Given the description of an element on the screen output the (x, y) to click on. 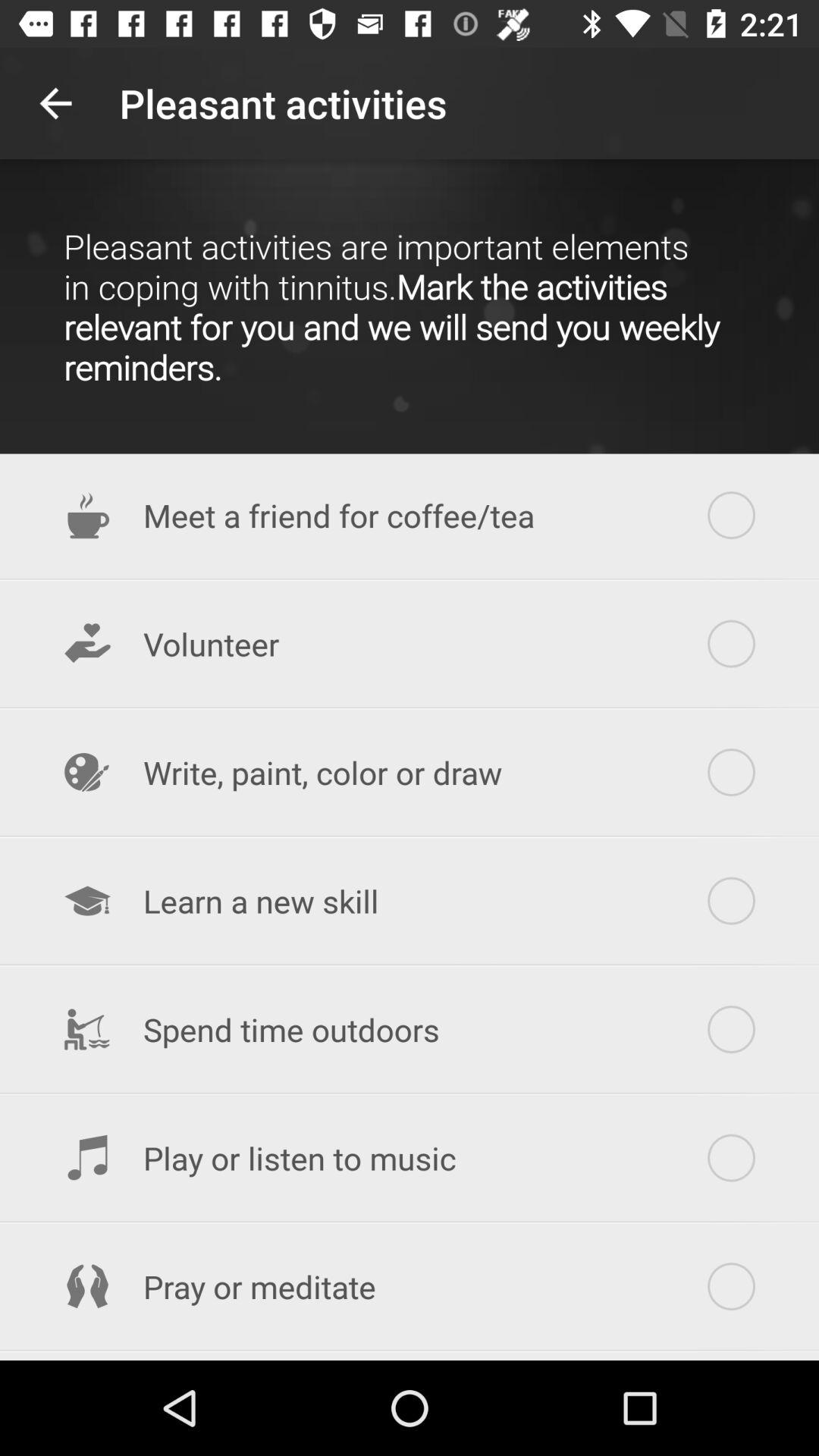
jump to pray or meditate item (409, 1286)
